Given the description of an element on the screen output the (x, y) to click on. 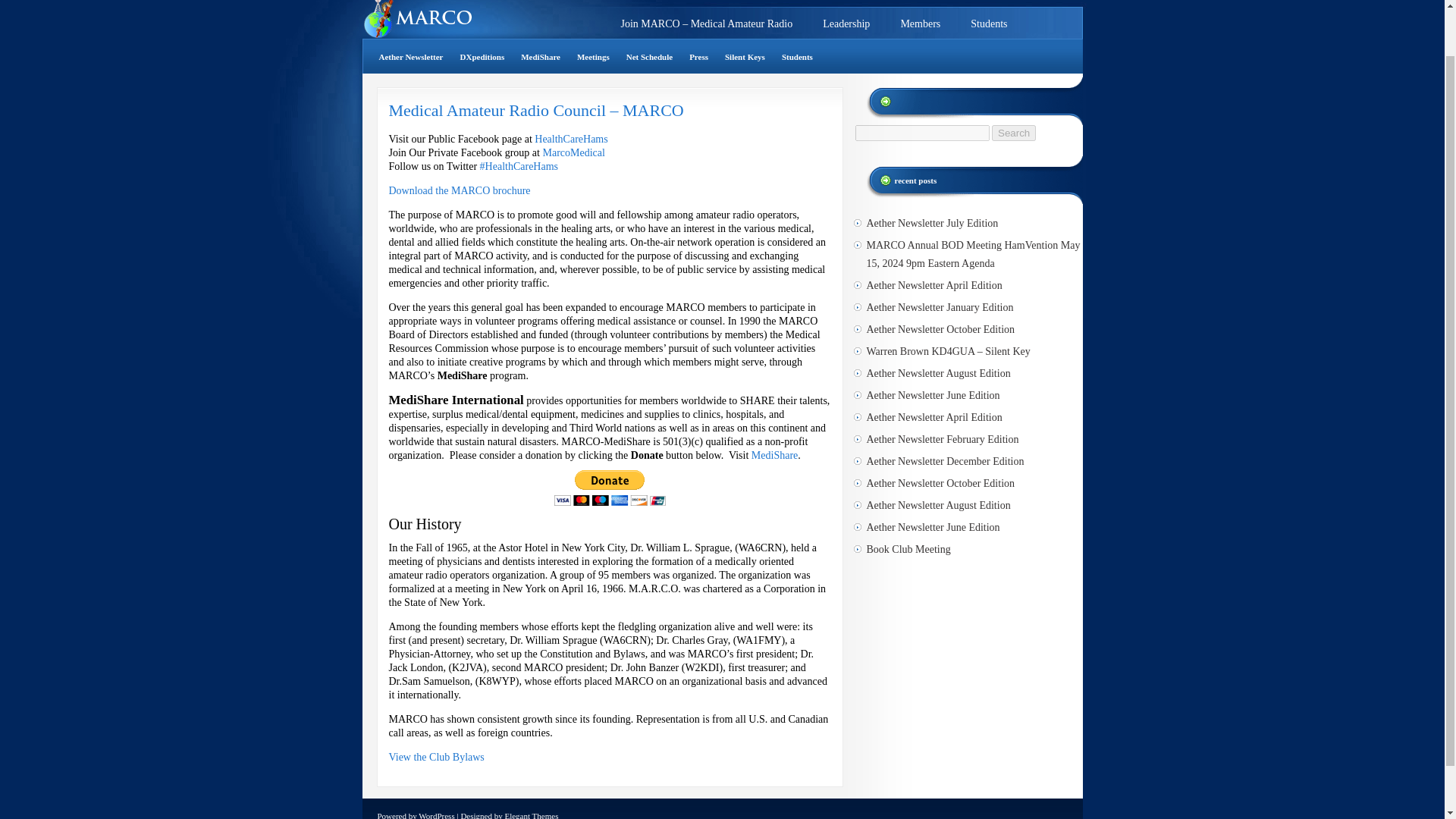
Aether Newsletter April Edition (933, 417)
Members (920, 22)
Aether Newsletter January Edition (939, 307)
Aether Newsletter April Edition (933, 285)
DXpeditions (482, 55)
Press (698, 55)
Net Schedule (648, 55)
MediShare (774, 455)
Aether Newsletter June Edition (932, 395)
MediShare (540, 55)
